Given the description of an element on the screen output the (x, y) to click on. 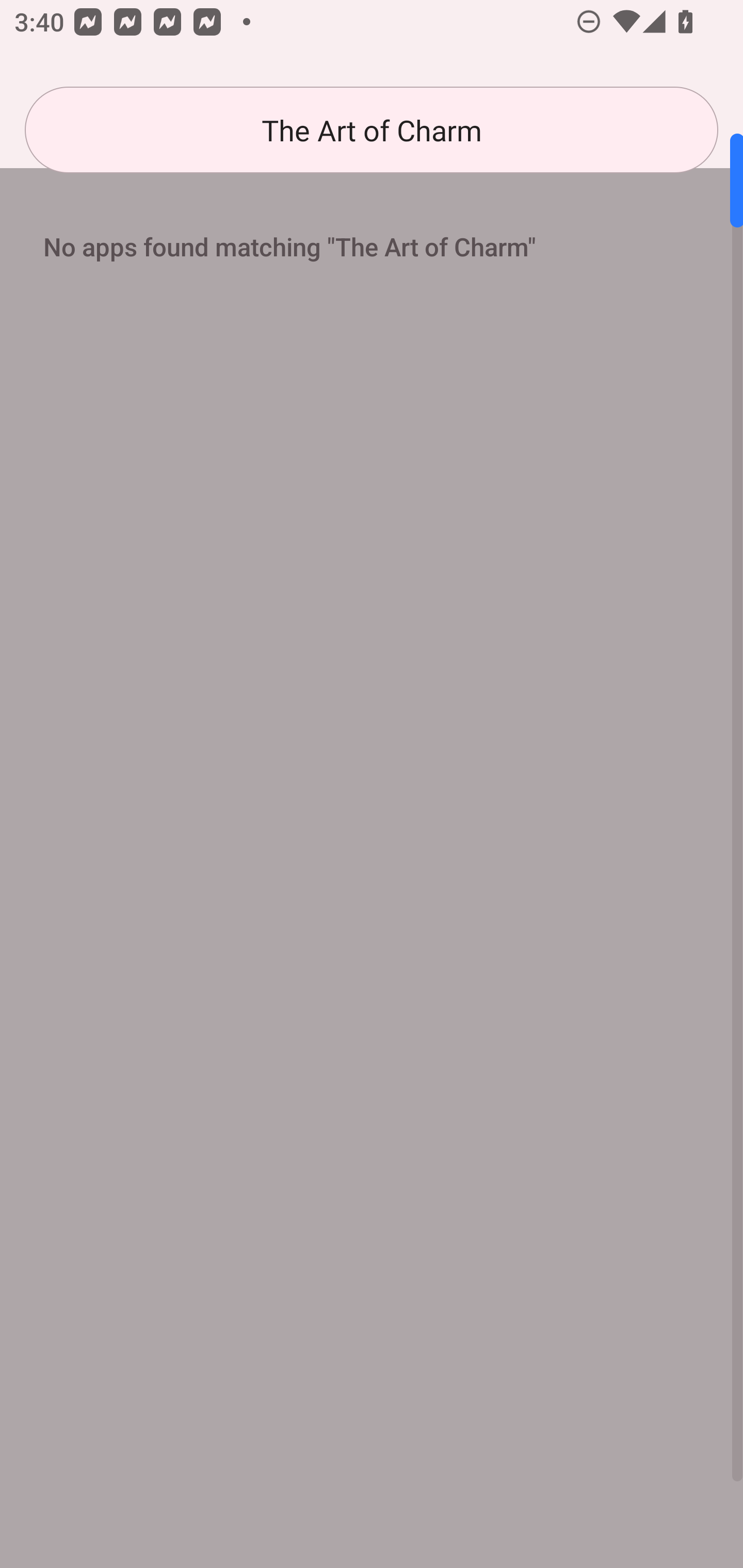
The Art of Charm (371, 130)
